Given the description of an element on the screen output the (x, y) to click on. 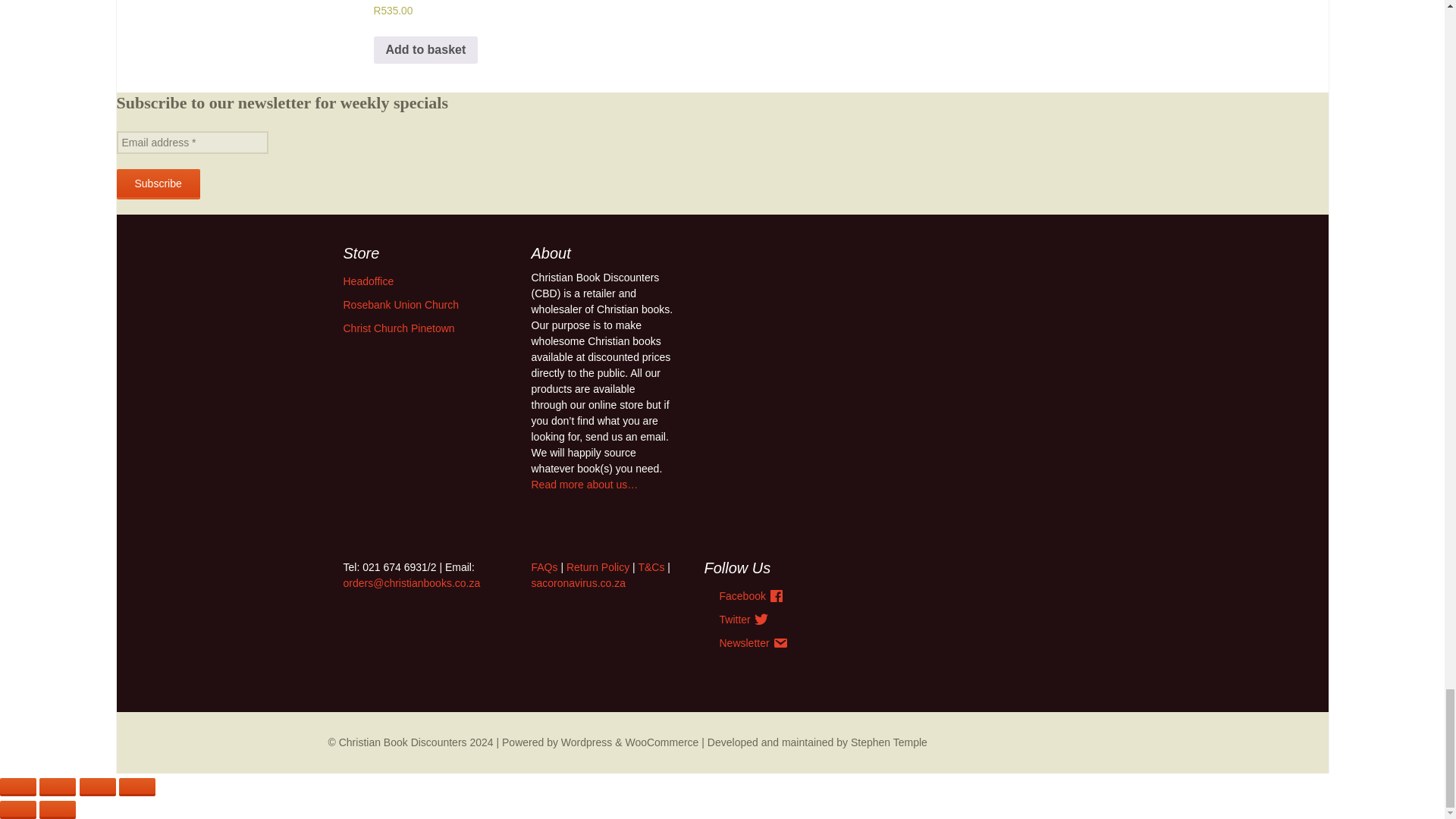
Subscribe (158, 183)
Email address (191, 142)
